Given the description of an element on the screen output the (x, y) to click on. 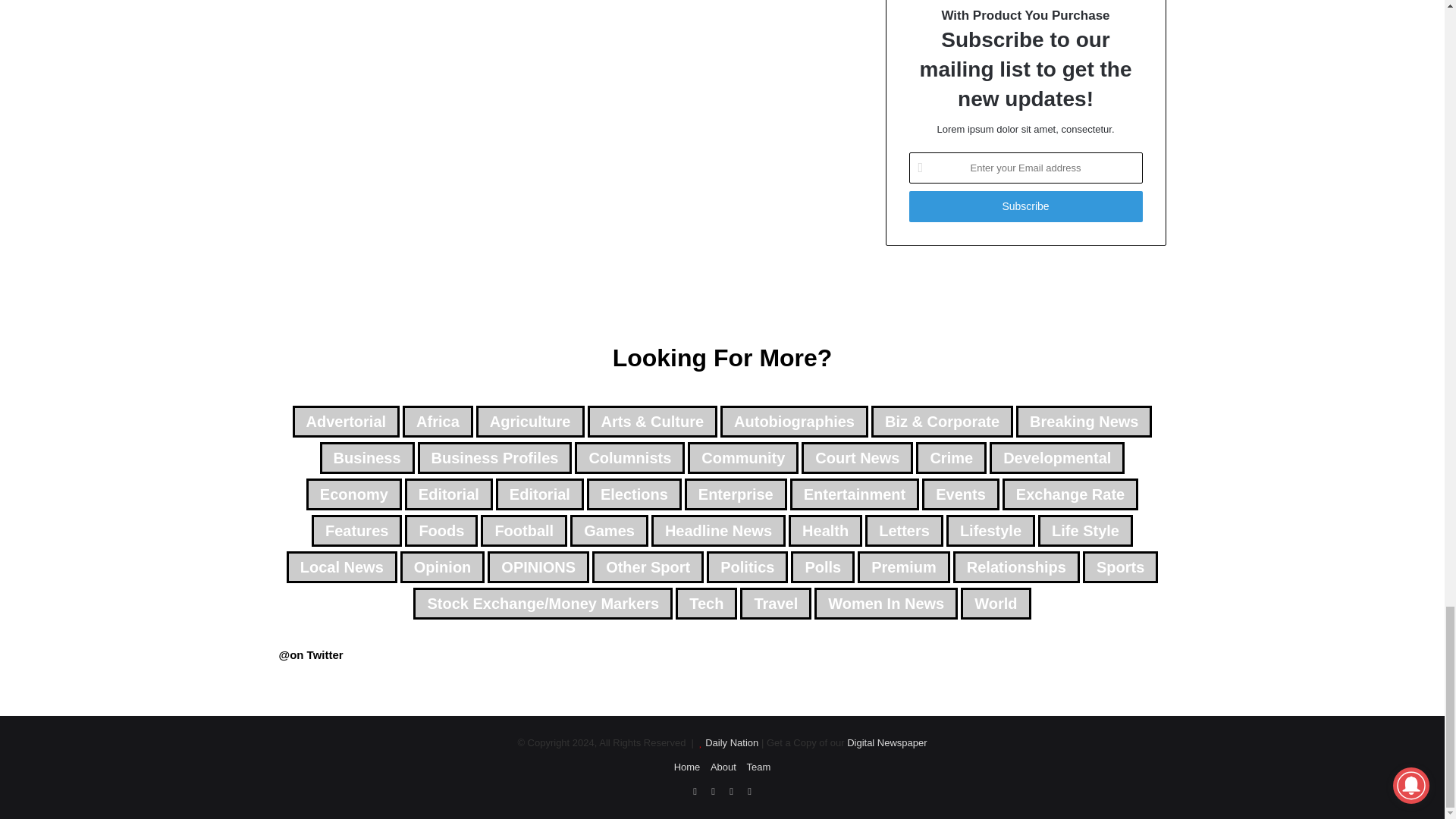
Subscribe (1025, 205)
